Given the description of an element on the screen output the (x, y) to click on. 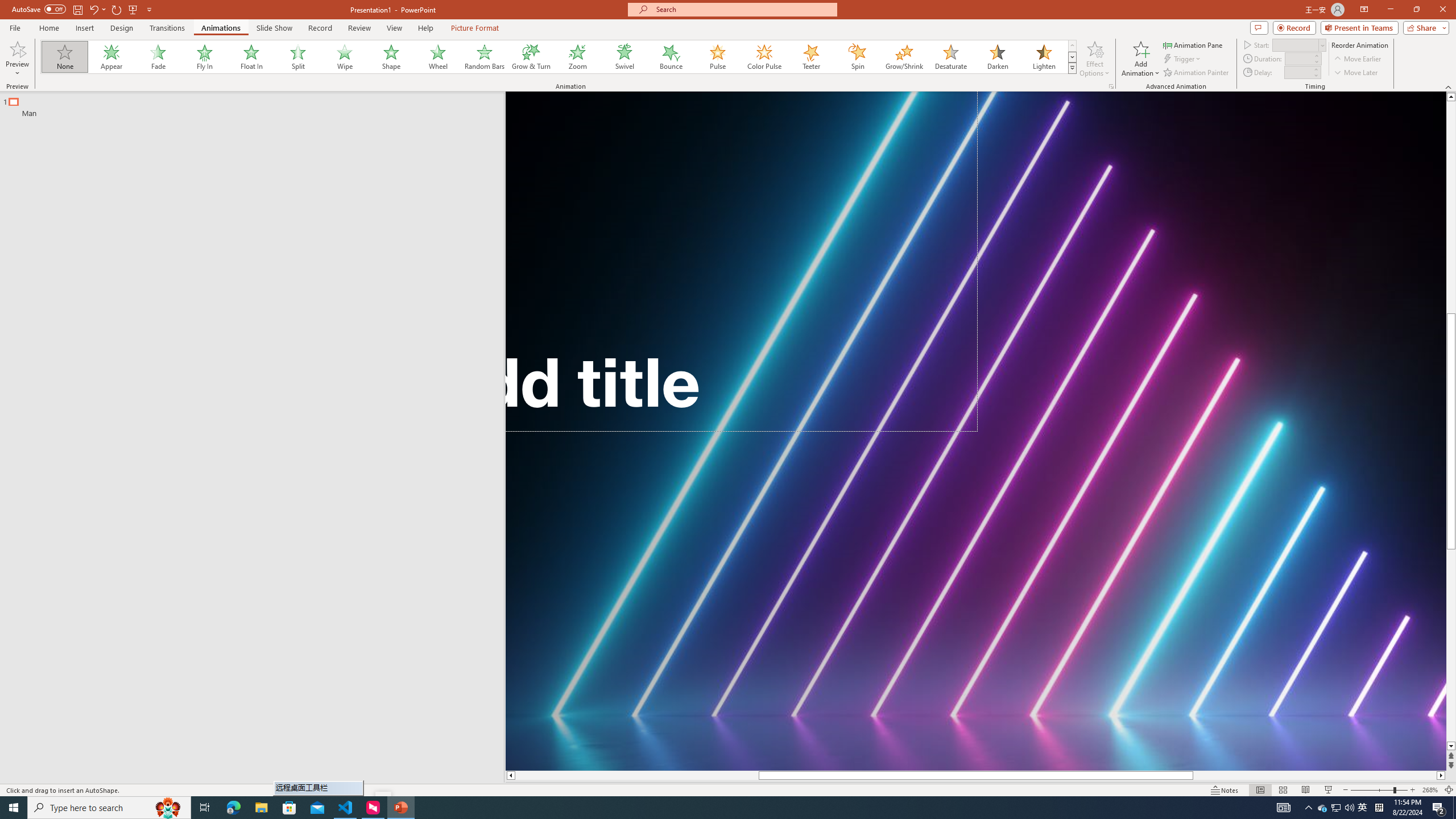
AutomationID: AnimationGallery (558, 56)
Darken (997, 56)
Fly In (205, 56)
Animation Delay (1297, 72)
Desaturate (950, 56)
Teeter (810, 56)
Swivel (624, 56)
Animation Painter (1196, 72)
